Given the description of an element on the screen output the (x, y) to click on. 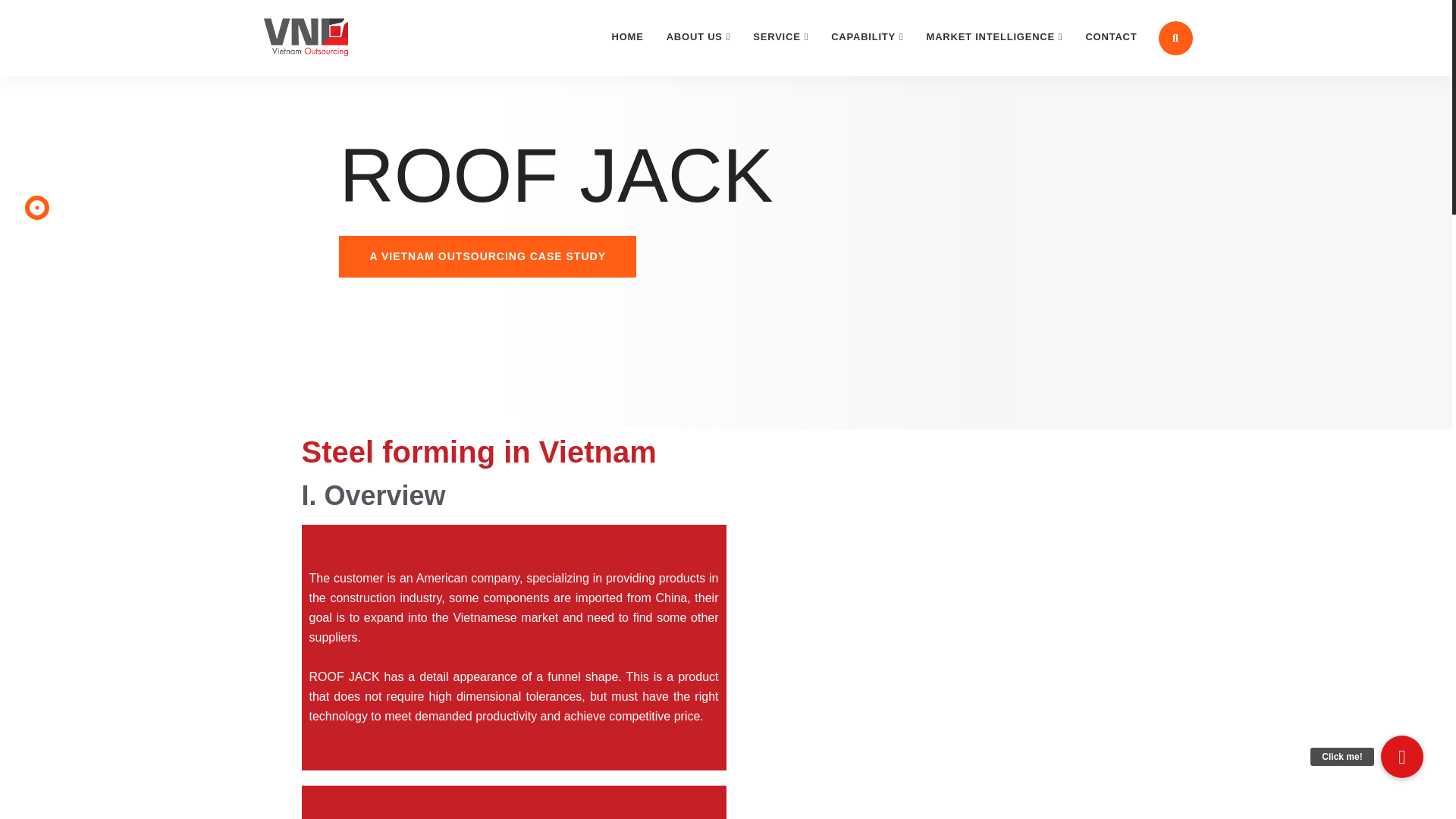
Service (780, 37)
Market intelligence (994, 37)
Capability (866, 37)
ABOUT US (698, 37)
CAPABILITY (866, 37)
A VIETNAM OUTSOURCING CASE STUDY (487, 256)
MARKET INTELLIGENCE (994, 37)
SERVICE (780, 37)
CONTACT (1111, 37)
About Us (698, 37)
